Given the description of an element on the screen output the (x, y) to click on. 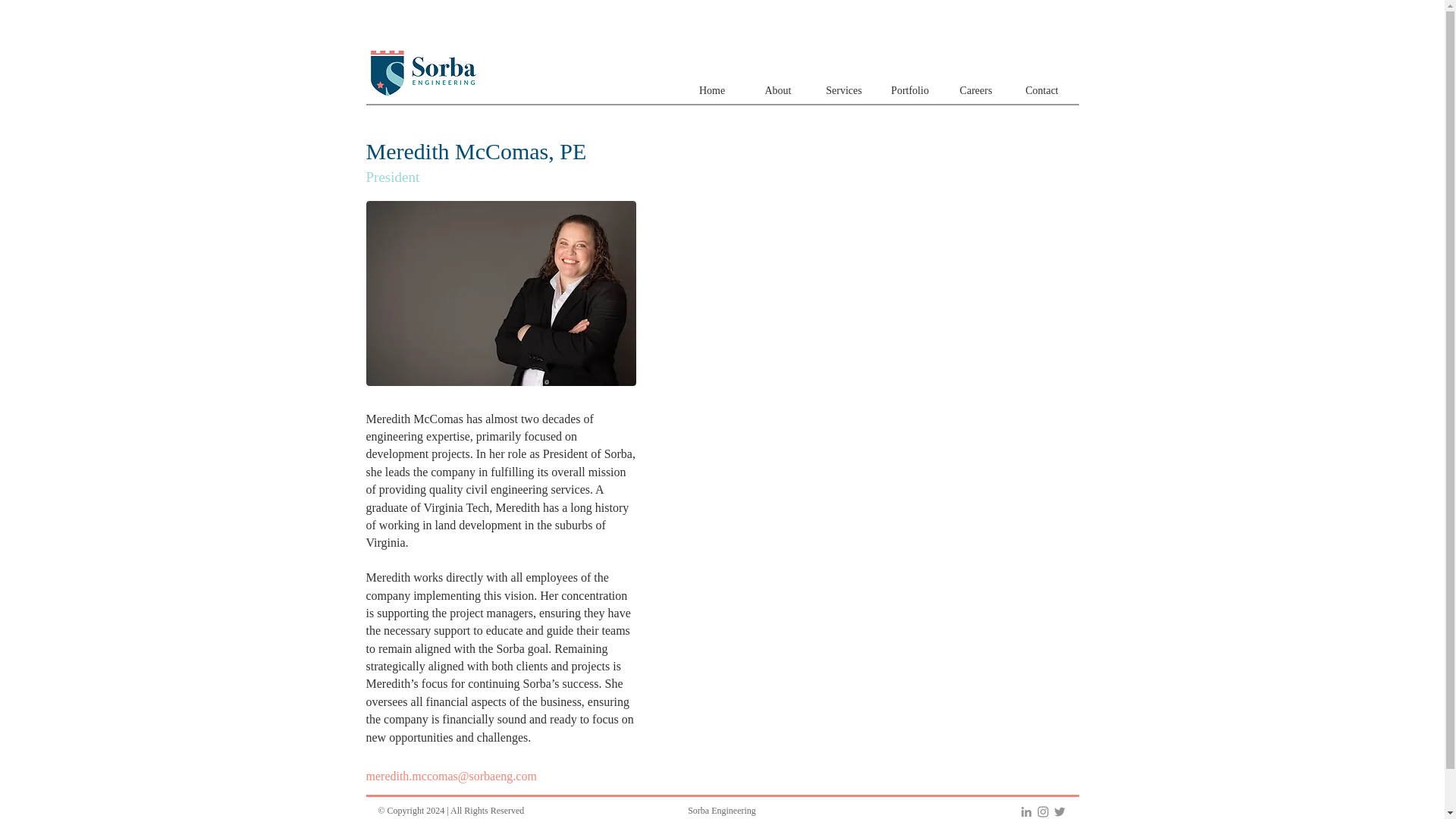
Home (712, 91)
About (777, 91)
Portfolio (909, 91)
Services (843, 91)
Careers (976, 91)
Contact (1041, 91)
